Given the description of an element on the screen output the (x, y) to click on. 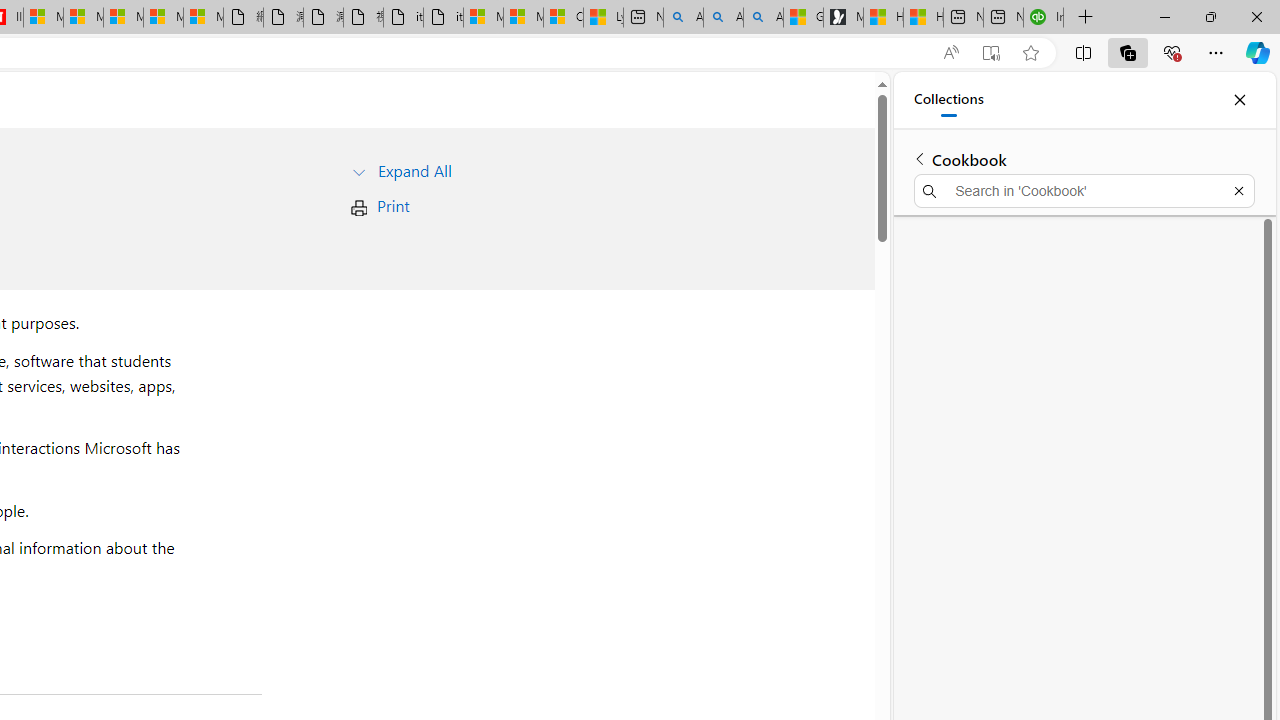
Alabama high school quarterback dies - Search Videos (763, 17)
Intuit QuickBooks Online - Quickbooks (1043, 17)
How to Use a TV as a Computer Monitor (923, 17)
Print (392, 205)
Expand All (414, 170)
itconcepthk.com/projector_solutions.mp4 (443, 17)
Search in 'Cookbook' (1084, 190)
